Given the description of an element on the screen output the (x, y) to click on. 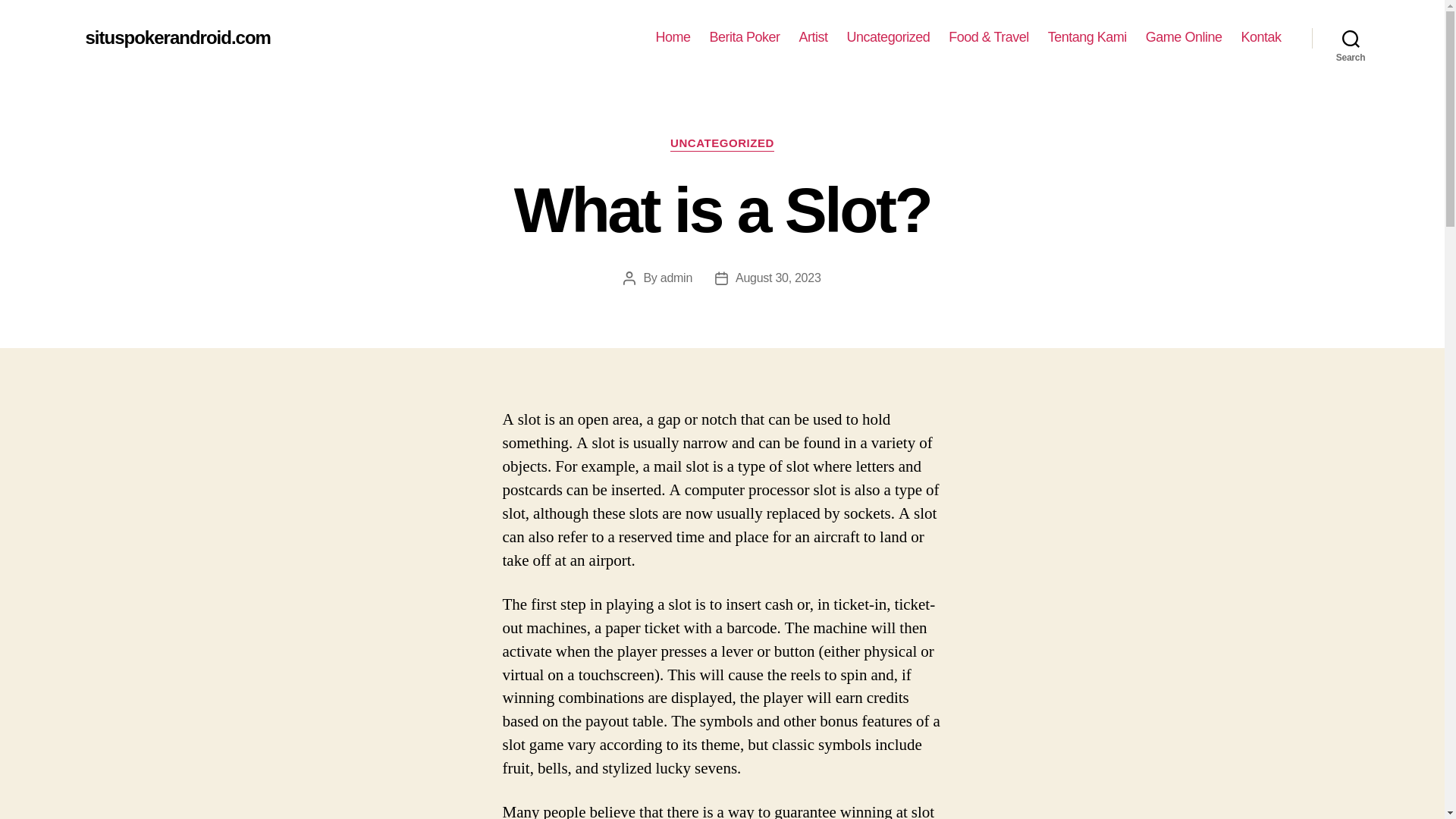
Uncategorized (888, 37)
situspokerandroid.com (176, 37)
admin (677, 277)
Artist (813, 37)
UNCATEGORIZED (721, 143)
Game Online (1184, 37)
Search (1350, 37)
Kontak (1260, 37)
August 30, 2023 (778, 277)
Berita Poker (745, 37)
Tentang Kami (1087, 37)
Home (672, 37)
